Given the description of an element on the screen output the (x, y) to click on. 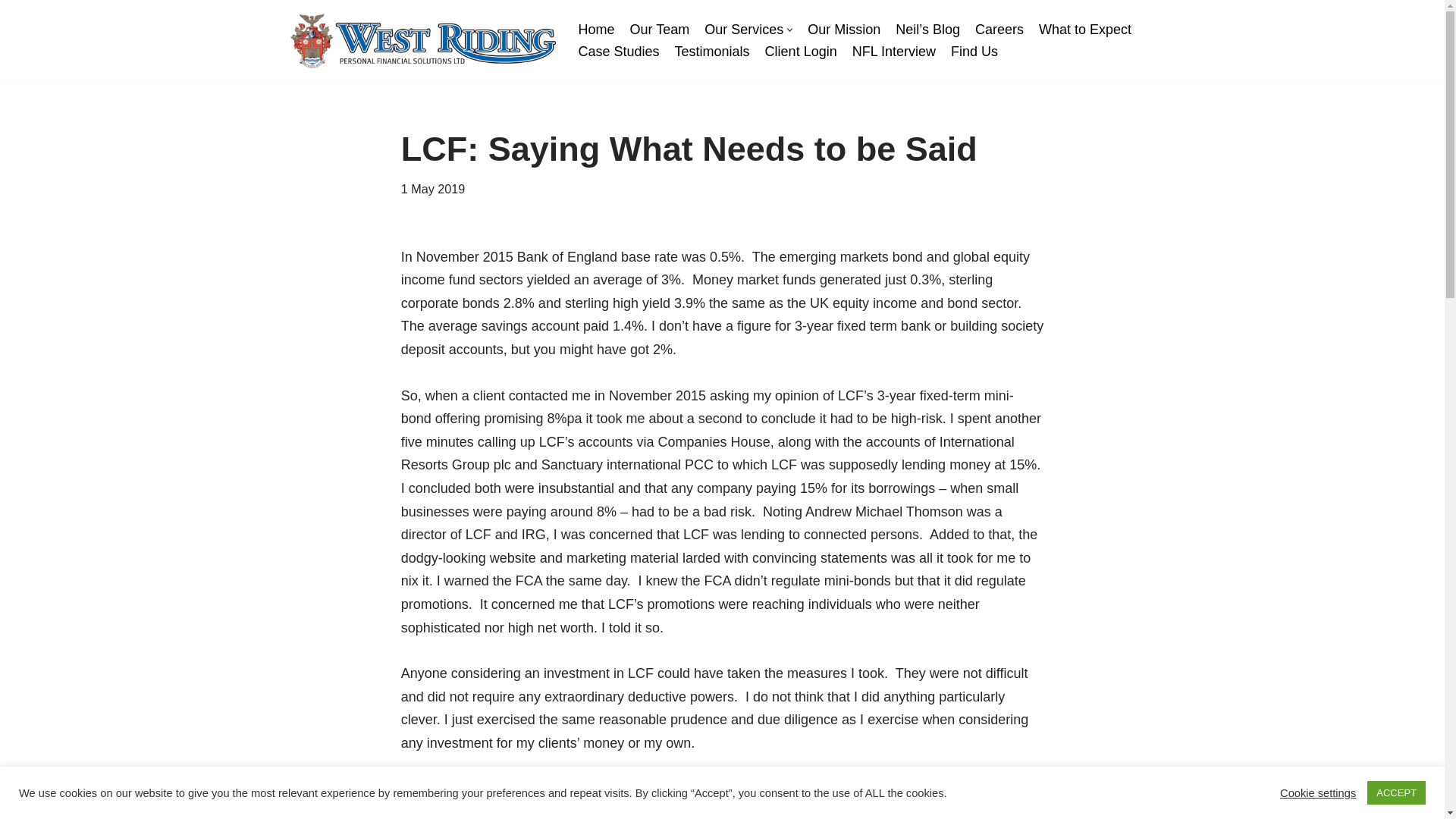
Our Services (743, 29)
Client Login (801, 51)
Our Mission (844, 29)
Testimonials (712, 51)
Our Team (660, 29)
Home (596, 29)
Careers (999, 29)
What to Expect (1085, 29)
Case Studies (618, 51)
NFL Interview (893, 51)
Find Us (973, 51)
Skip to content (11, 31)
